Given the description of an element on the screen output the (x, y) to click on. 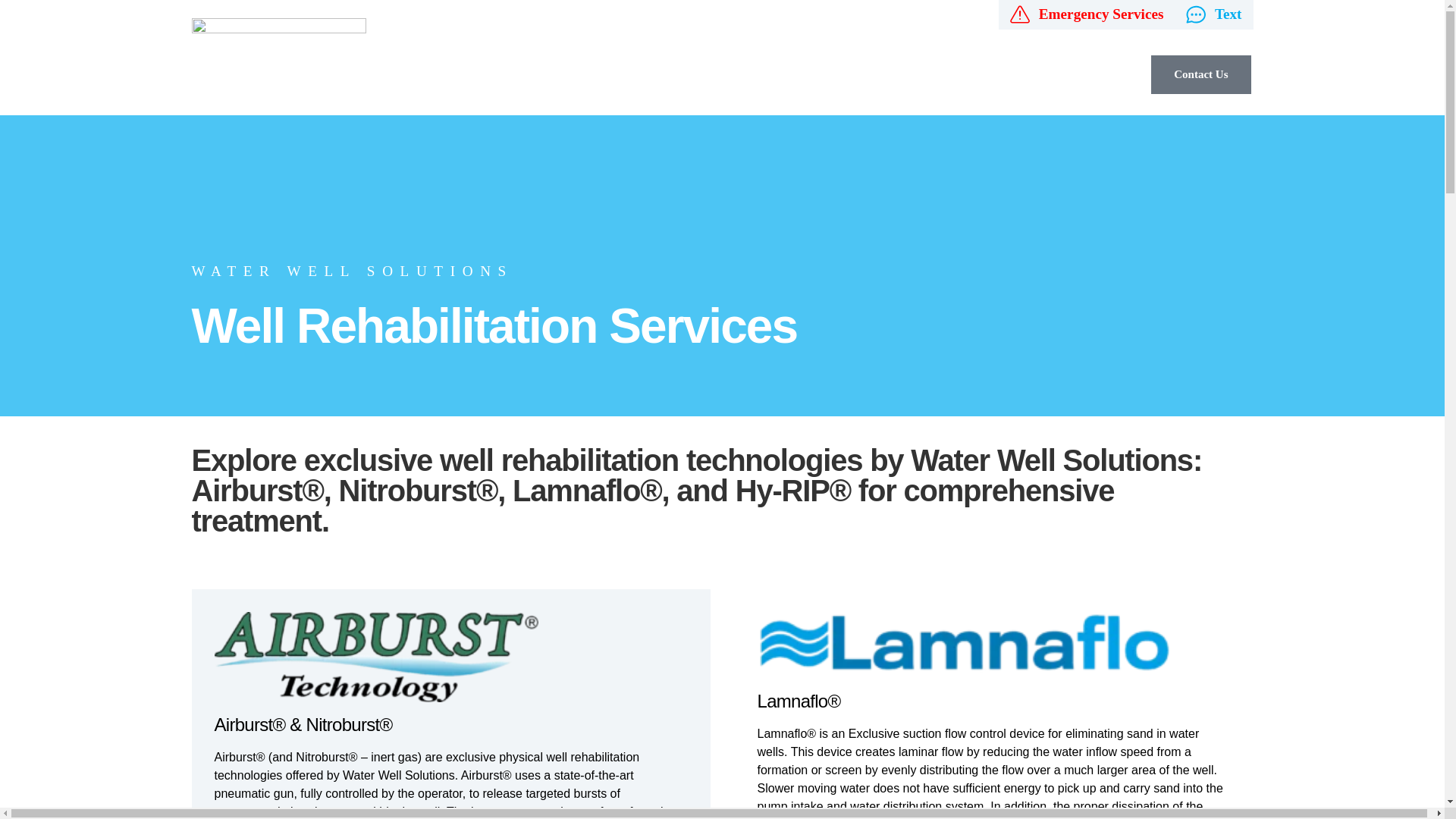
Well Rehabilitation Services 1 (375, 656)
Services (1018, 73)
About Us (1098, 73)
Text (1213, 14)
Emergency Services (1086, 14)
Well Rehabilitation Services 2 (966, 644)
Contact Us (1200, 74)
